Given the description of an element on the screen output the (x, y) to click on. 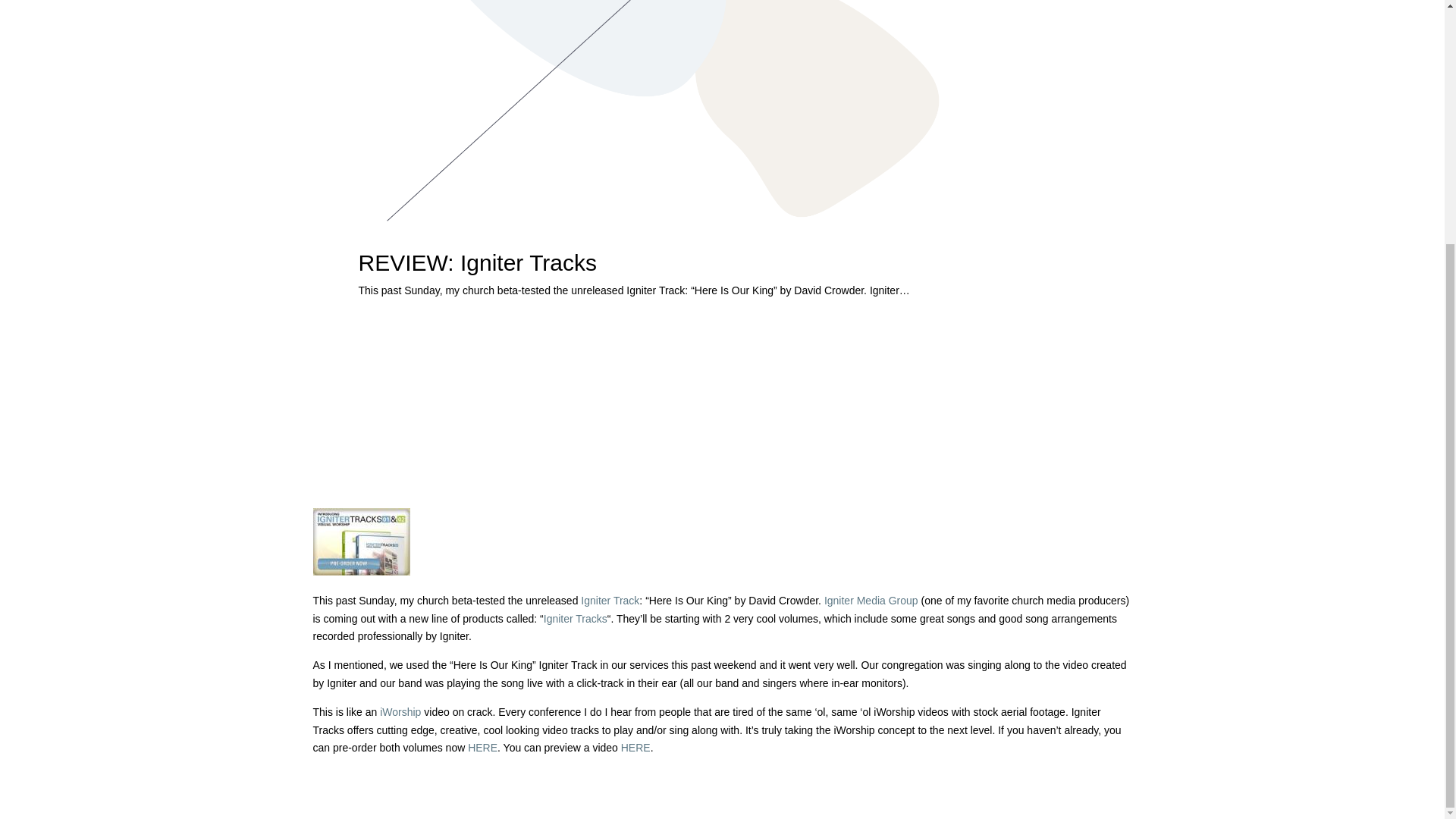
iWorship (400, 711)
Igniter Tracks (575, 618)
Igniter Media Group (871, 600)
HERE (635, 747)
Igniter Track (609, 600)
HERE (482, 747)
